Given the description of an element on the screen output the (x, y) to click on. 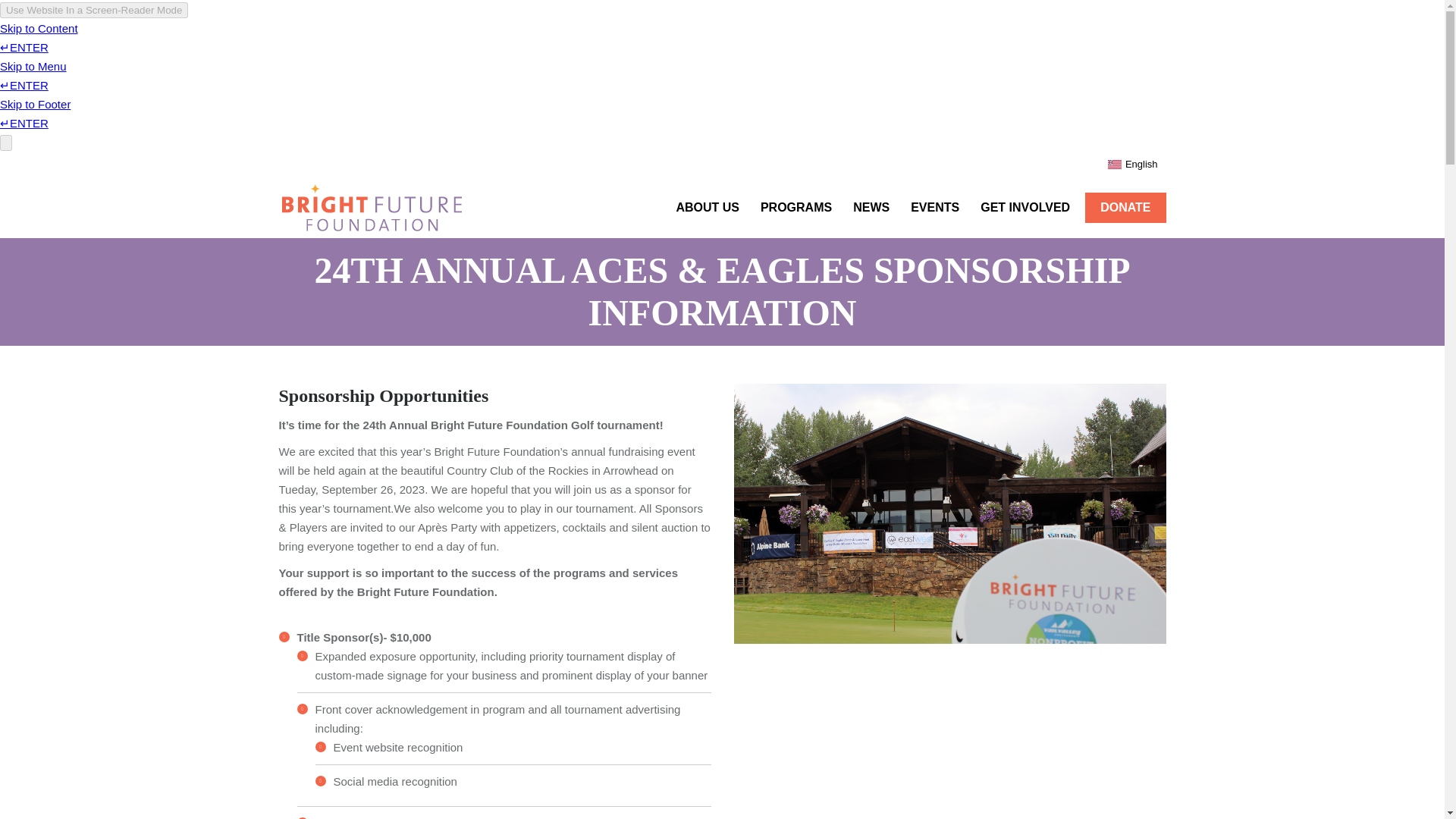
GET INVOLVED (1024, 207)
ABOUT US (707, 207)
English (1133, 163)
NEWS (871, 207)
PROGRAMS (796, 207)
DONATE (1125, 207)
EVENTS (934, 207)
